Given the description of an element on the screen output the (x, y) to click on. 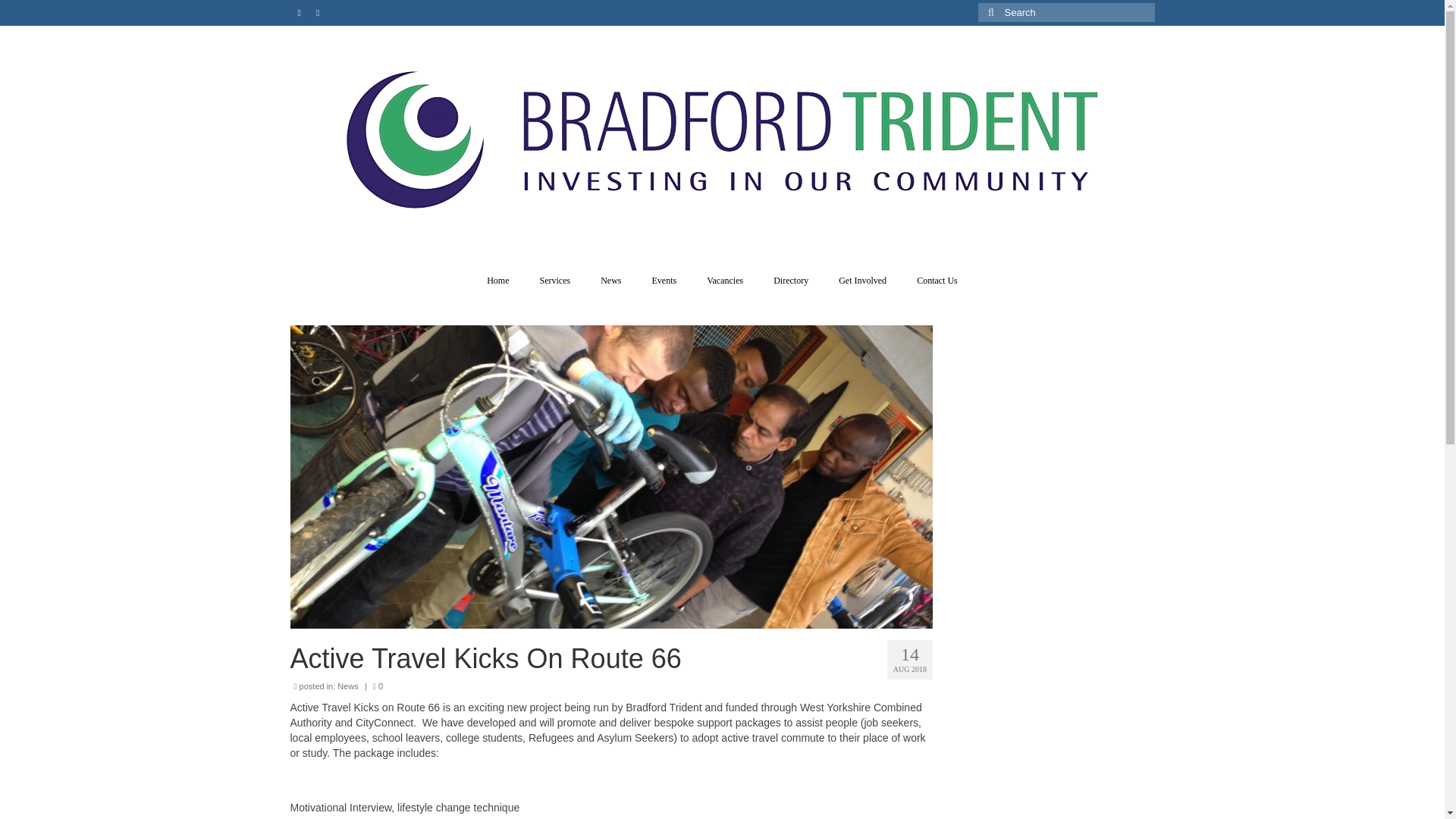
Home (497, 280)
Directory (791, 280)
Services (555, 280)
Get Involved (862, 280)
News (610, 280)
Events (665, 280)
Vacancies (724, 280)
